Given the description of an element on the screen output the (x, y) to click on. 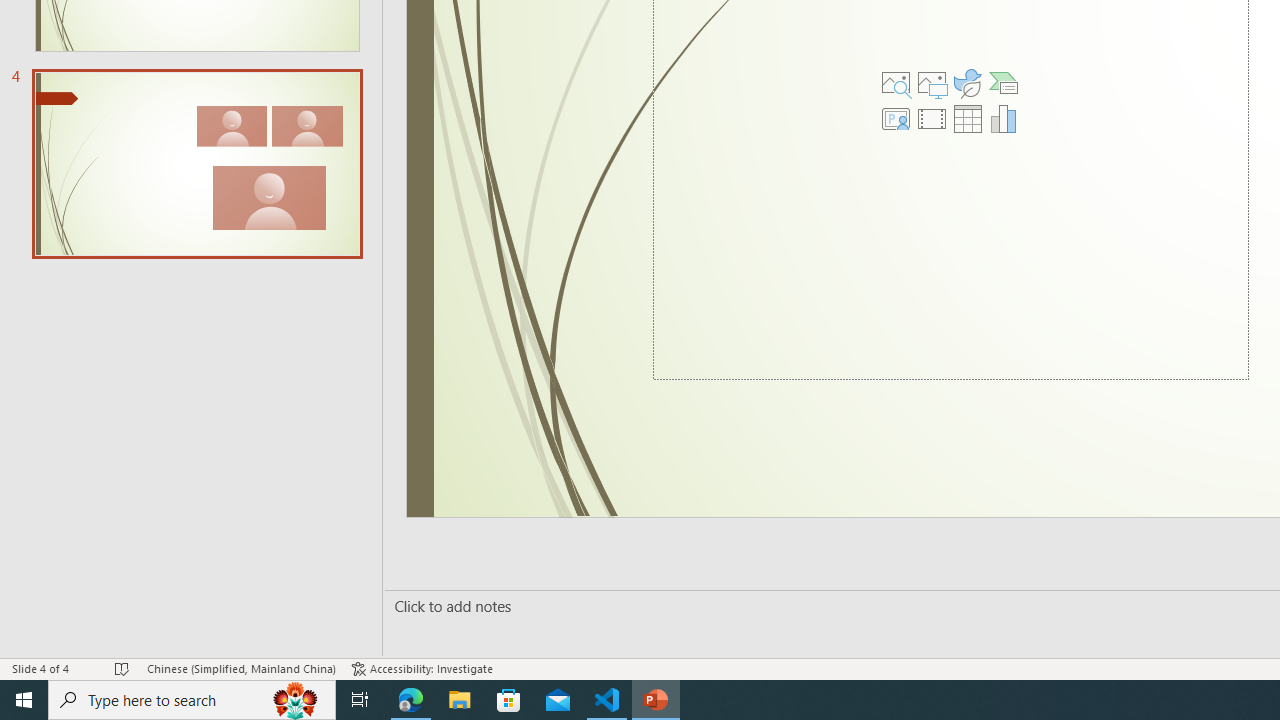
Insert Cameo (895, 118)
Insert Video (932, 118)
Insert Table (968, 118)
Insert a SmartArt Graphic (1004, 82)
Insert Chart (1004, 118)
Pictures (932, 82)
Stock Images (895, 82)
Insert an Icon (968, 82)
